Given the description of an element on the screen output the (x, y) to click on. 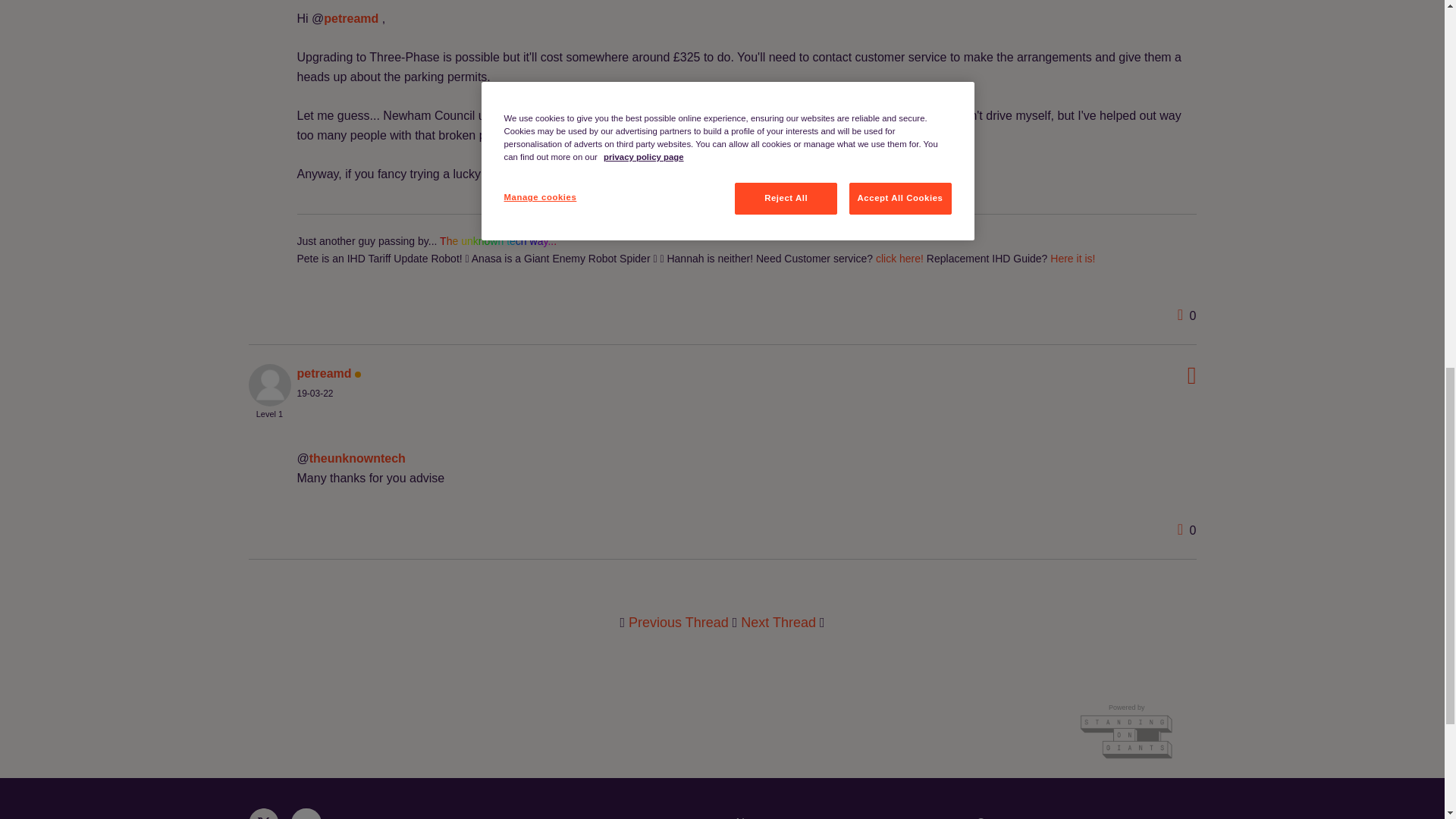
petreamd is offline (324, 373)
petreamd is offline (269, 383)
petreamd's Avatar (269, 384)
